Given the description of an element on the screen output the (x, y) to click on. 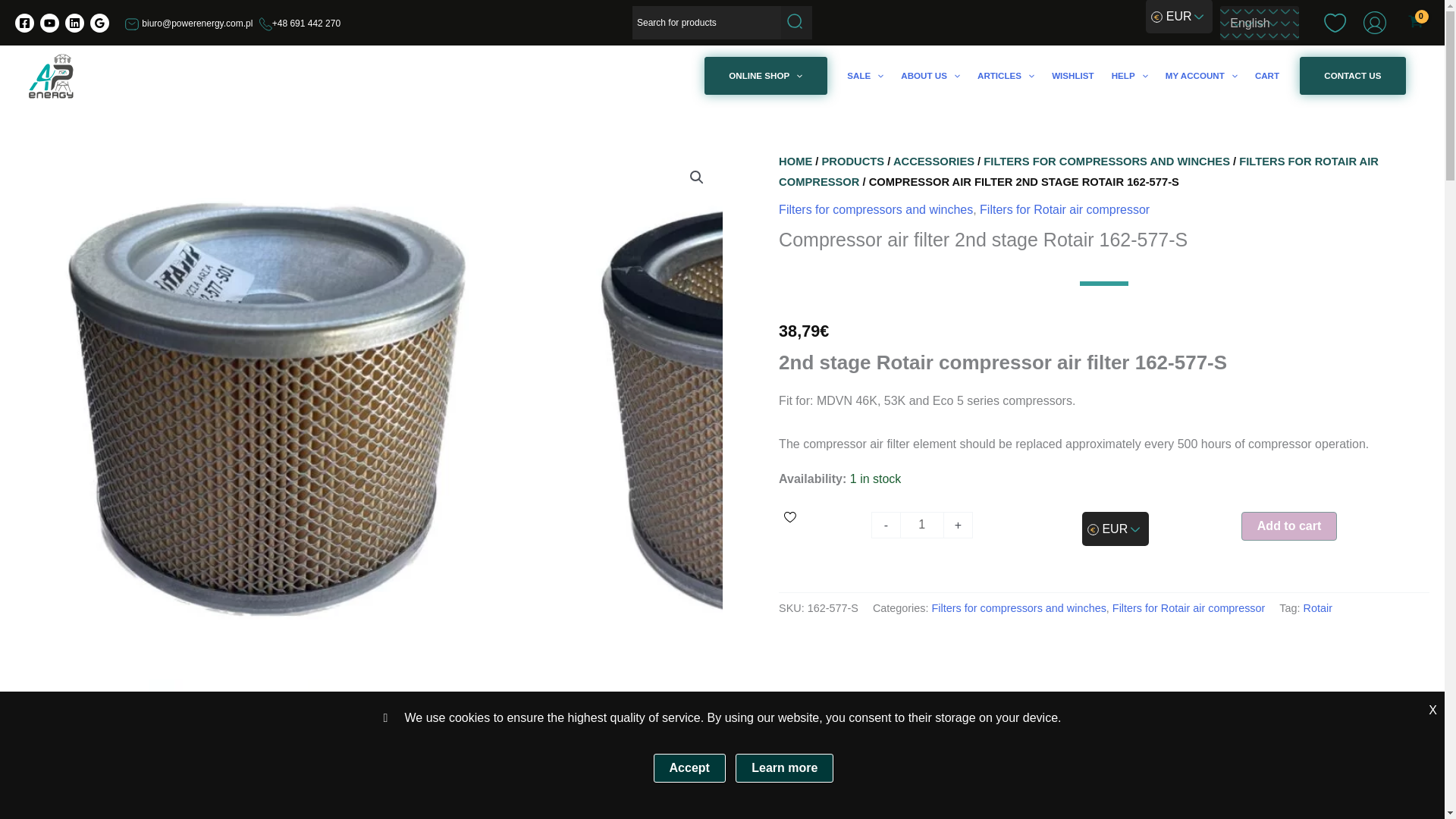
1 (921, 524)
ONLINE SHOP (765, 75)
wishlist (1335, 22)
